Given the description of an element on the screen output the (x, y) to click on. 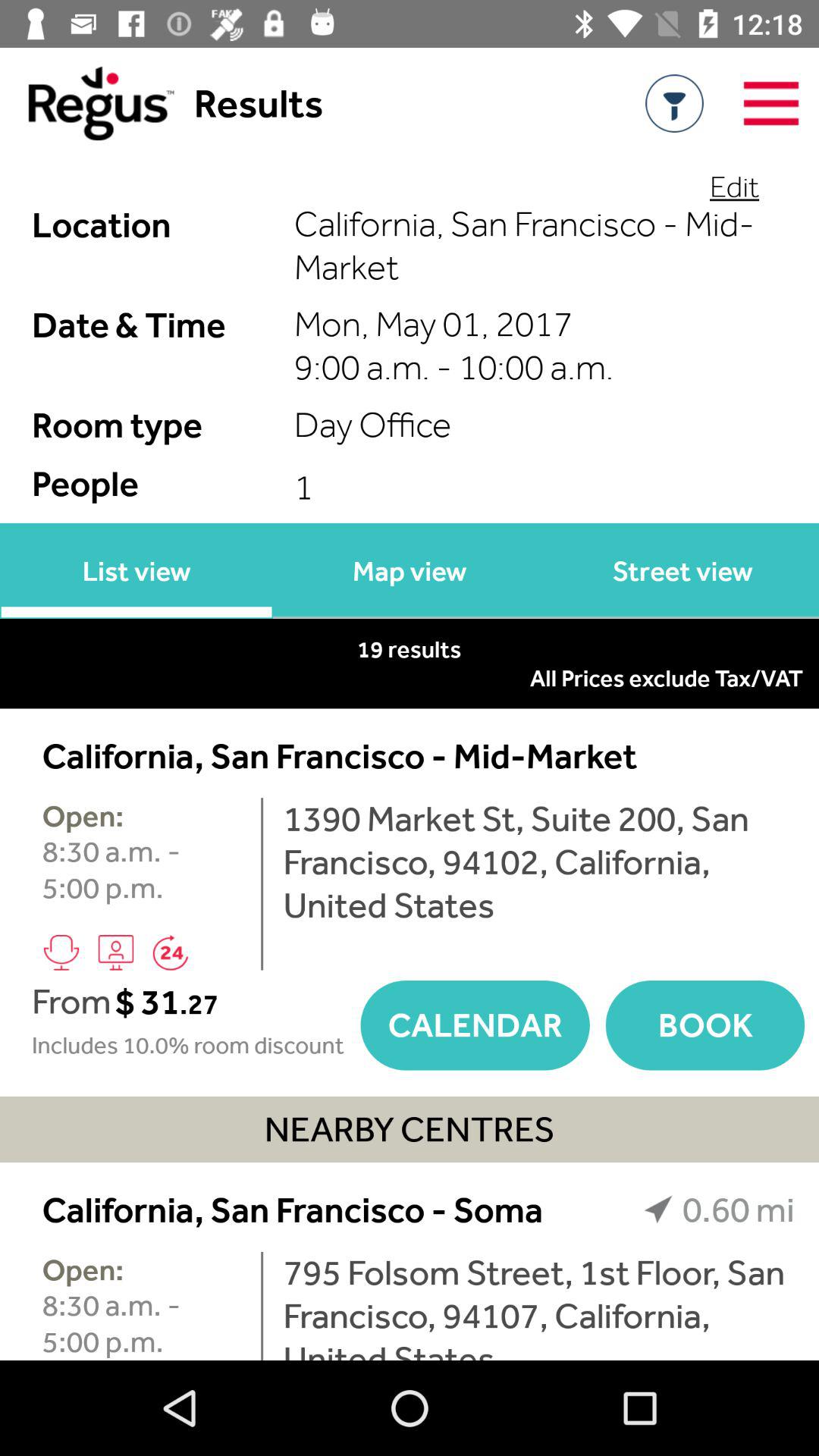
select icon below california san francisco item (538, 861)
